Given the description of an element on the screen output the (x, y) to click on. 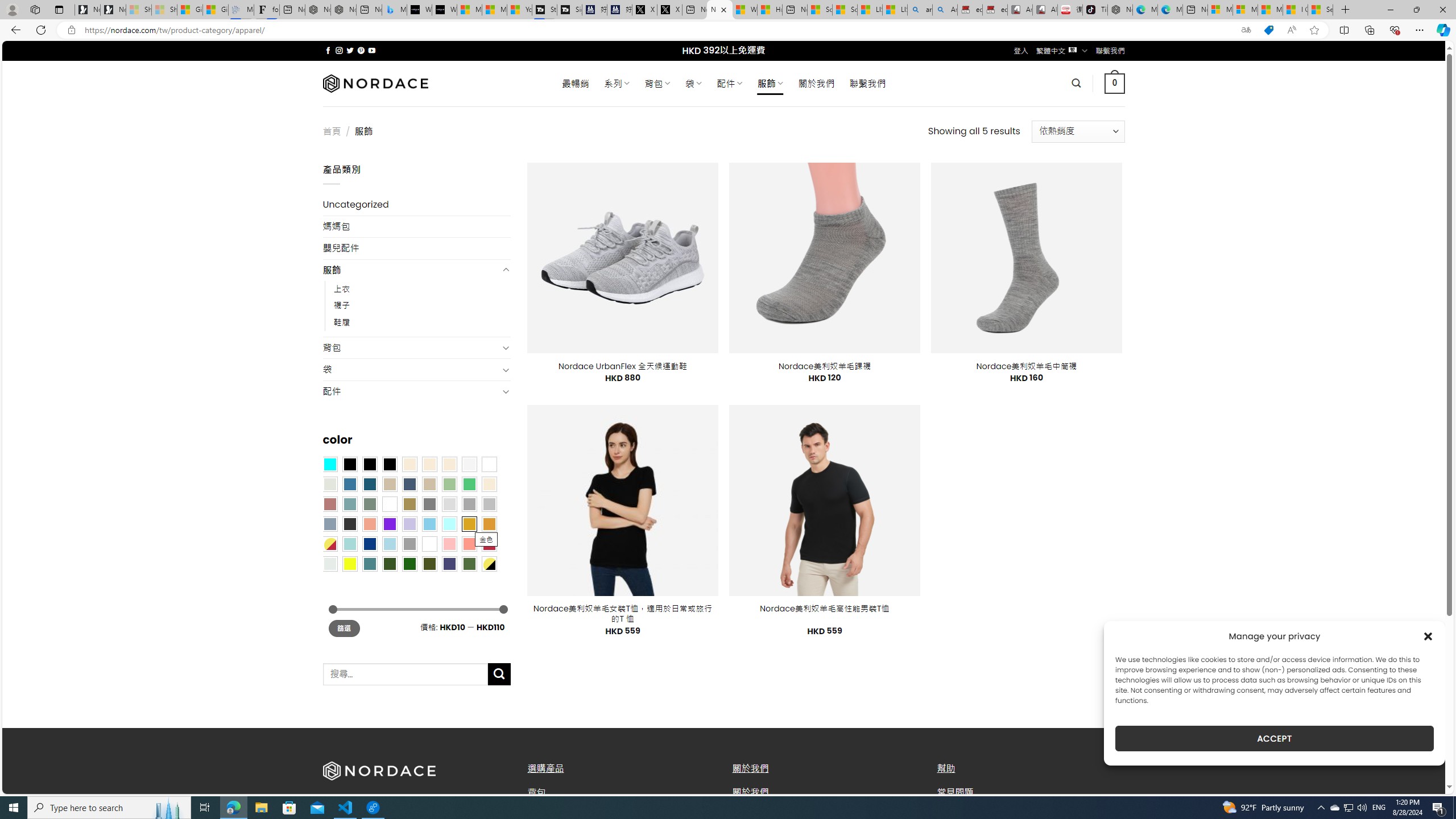
I Gained 20 Pounds of Muscle in 30 Days! | Watch (1295, 9)
